Given the description of an element on the screen output the (x, y) to click on. 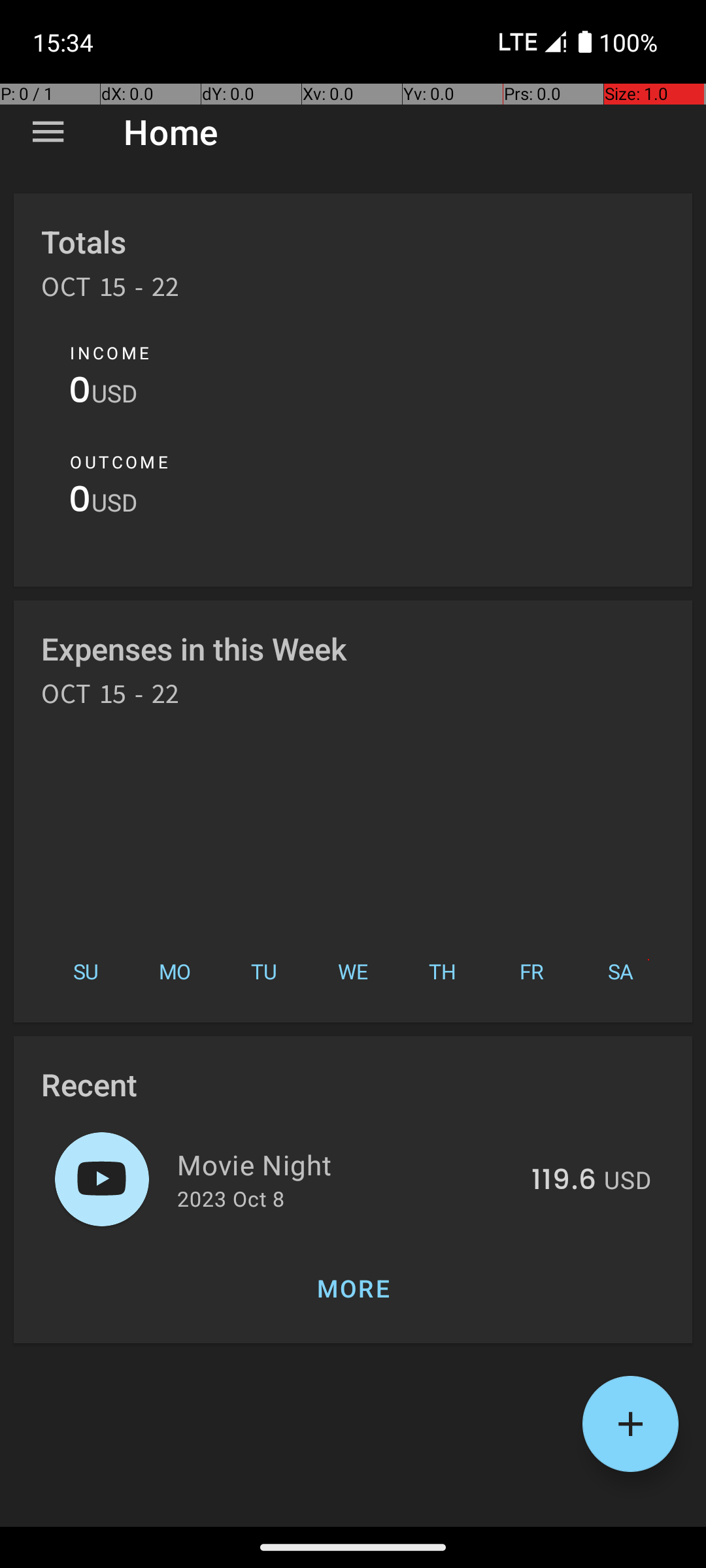
Movie Night Element type: android.widget.TextView (346, 1164)
119.6 Element type: android.widget.TextView (563, 1180)
